Given the description of an element on the screen output the (x, y) to click on. 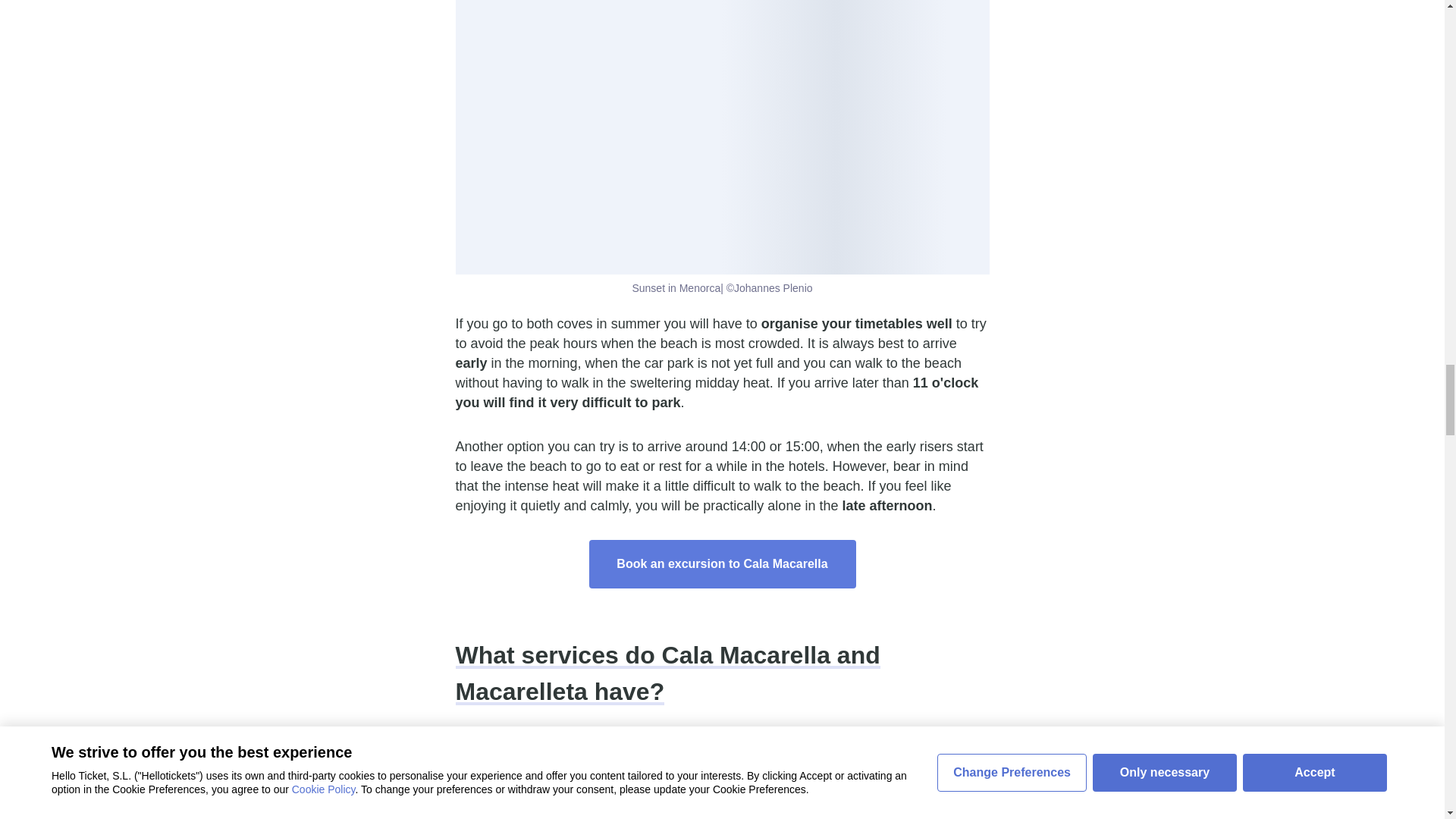
Book an excursion to Cala Macarella (722, 563)
